Given the description of an element on the screen output the (x, y) to click on. 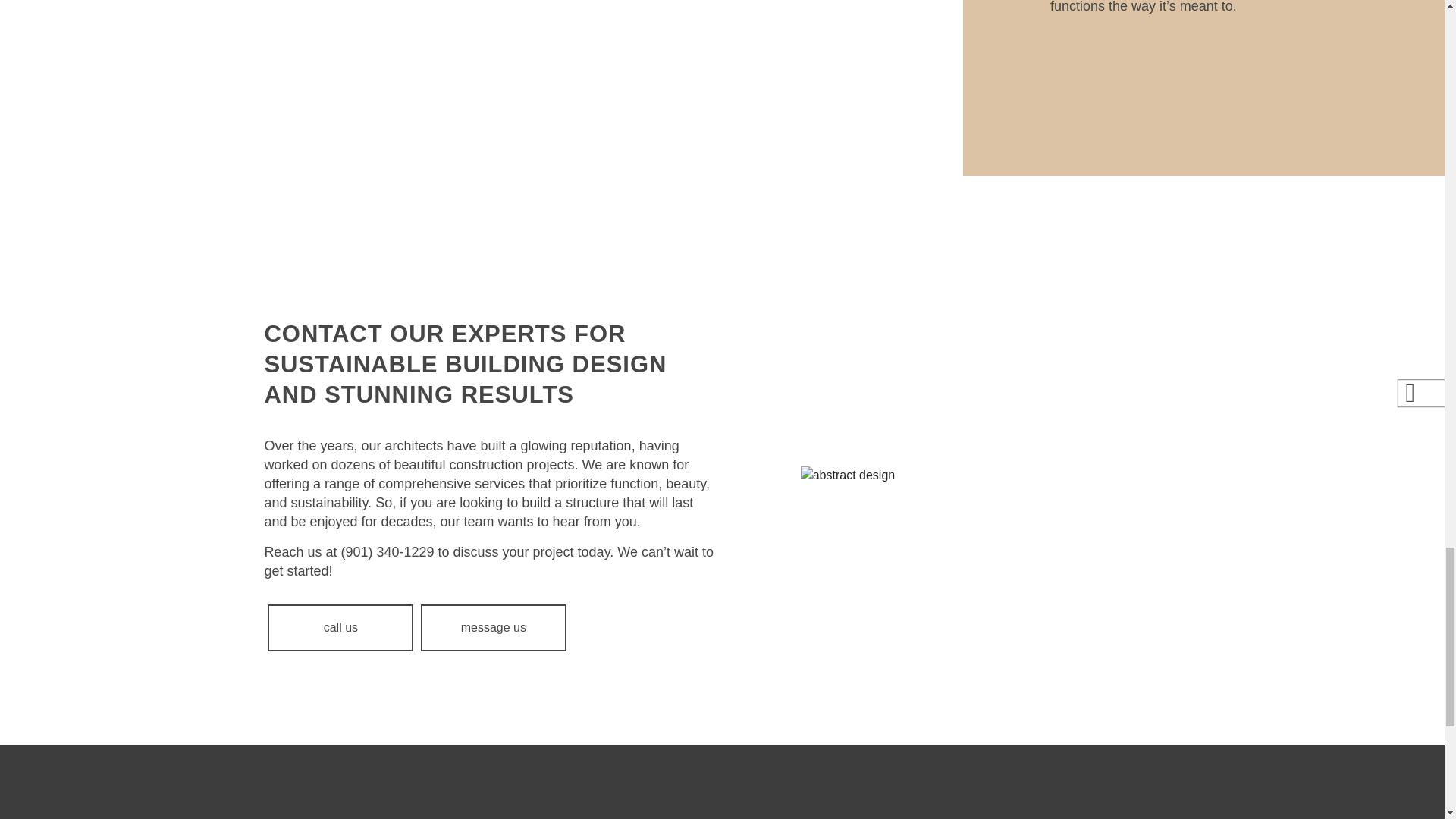
Message Us (493, 627)
